Given the description of an element on the screen output the (x, y) to click on. 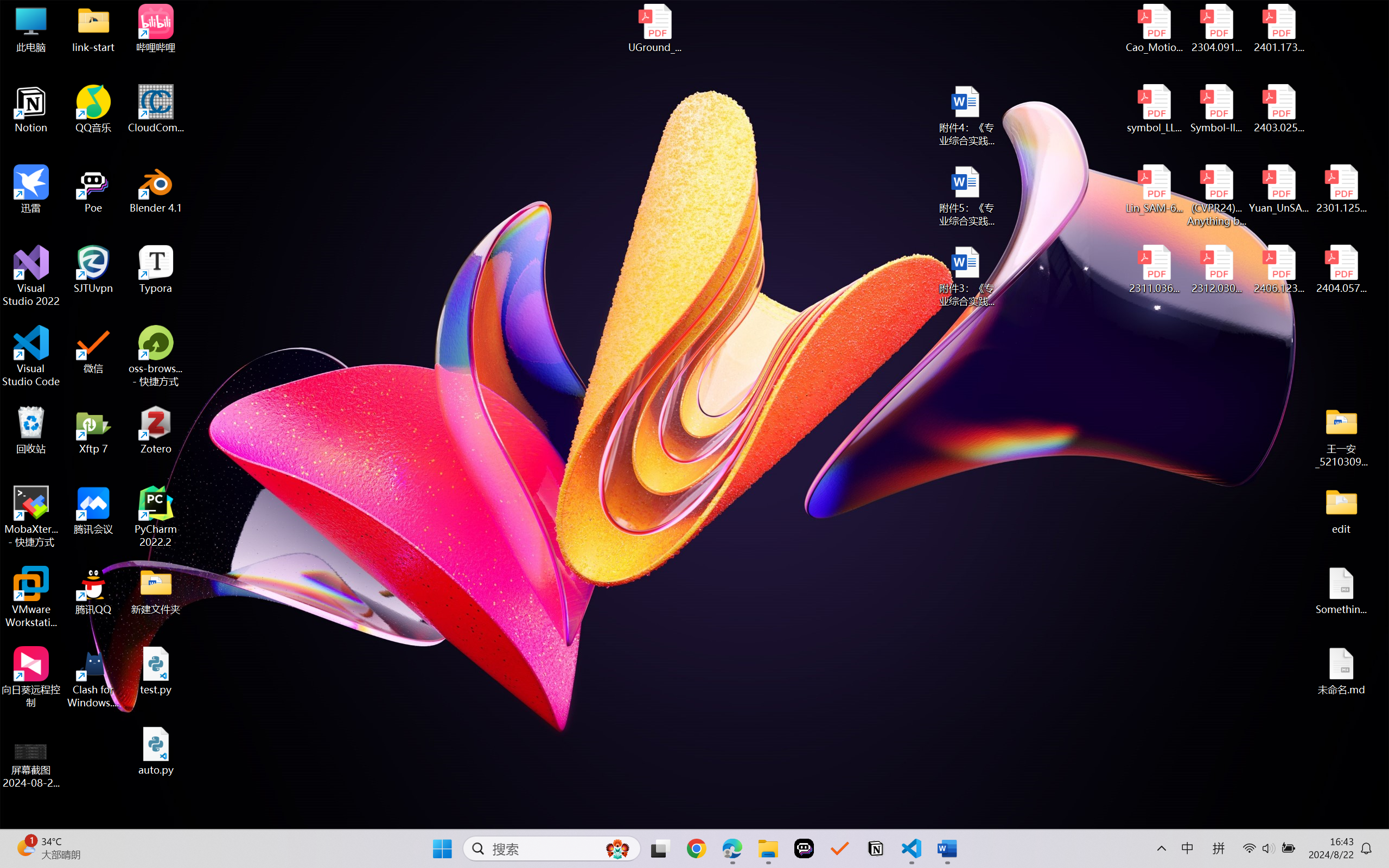
Symbol-llm-v2.pdf (1216, 109)
2312.03032v2.pdf (1216, 269)
PyCharm 2022.2 (156, 516)
Xftp 7 (93, 430)
